Given the description of an element on the screen output the (x, y) to click on. 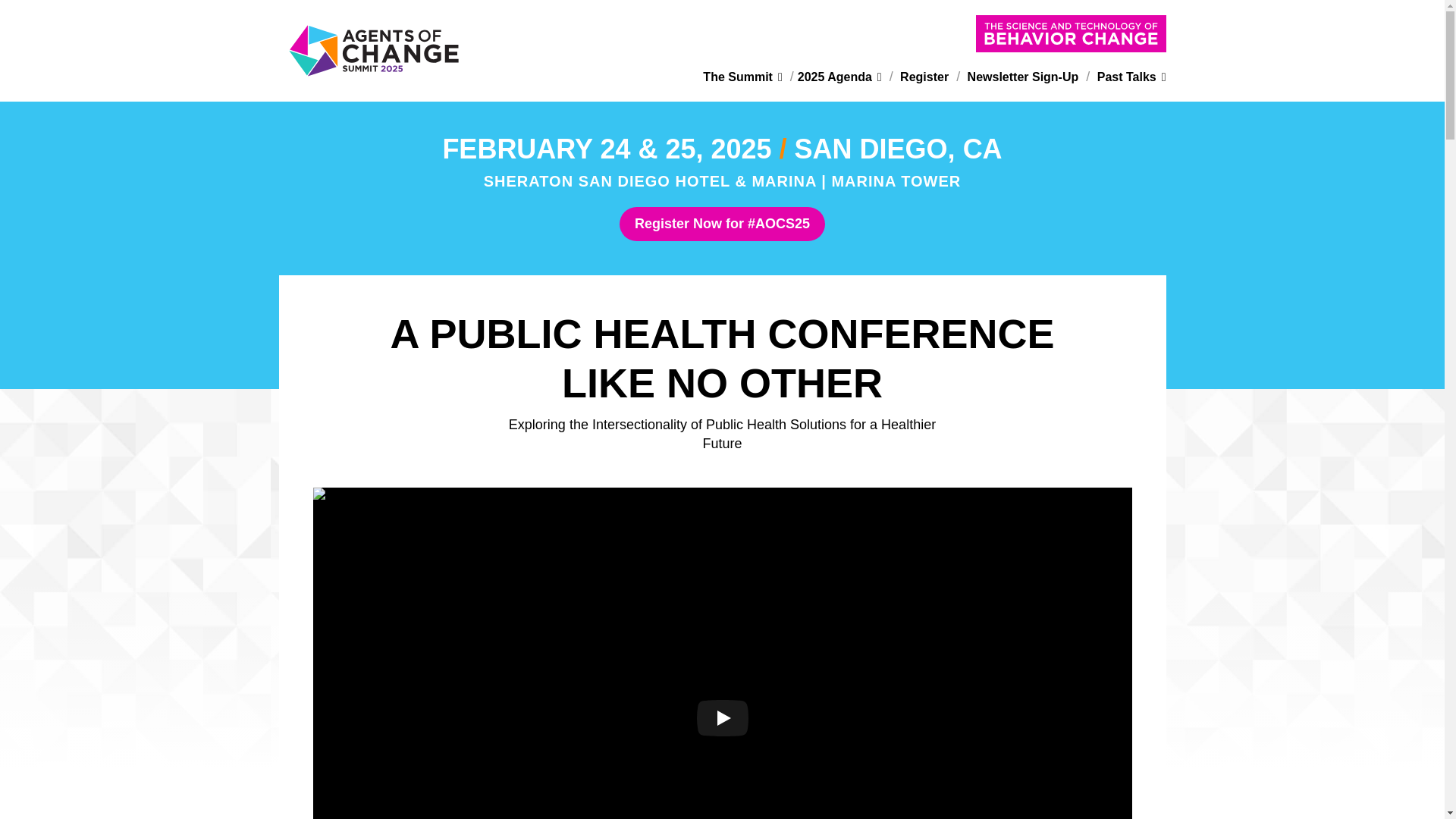
Register (922, 76)
2025 Agenda (839, 76)
The Summit (742, 76)
Newsletter Sign-Up (1020, 76)
Past Talks (1129, 76)
